Given the description of an element on the screen output the (x, y) to click on. 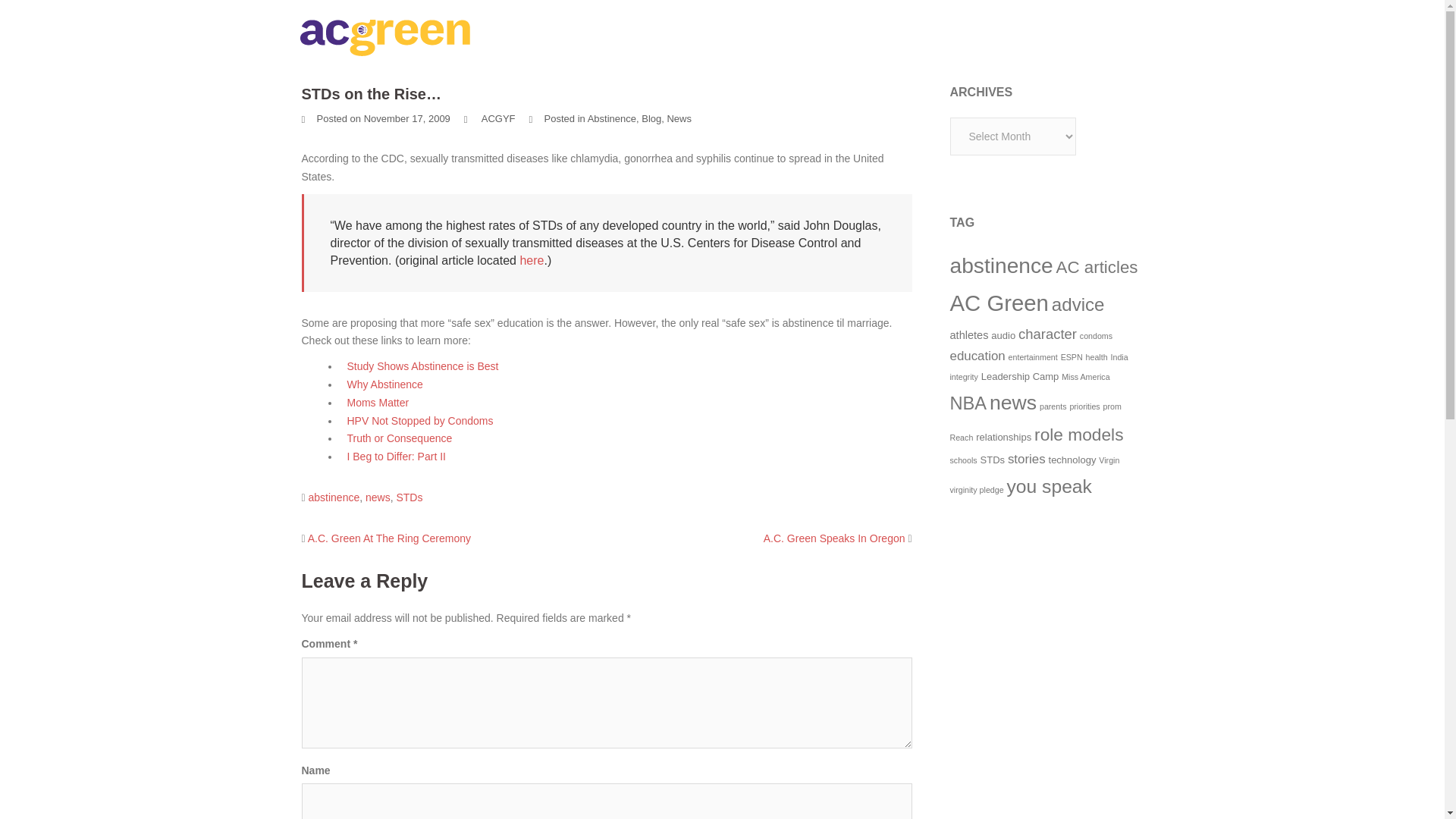
Get Involved (1040, 37)
Who We Are (835, 37)
Abstinence (612, 118)
AC Green YF (384, 37)
ACGYF (498, 118)
HPV Not Stopped by Condoms (420, 420)
Moms Matter (378, 402)
Blog (979, 37)
News (678, 118)
here (531, 259)
Contact Us (1116, 37)
Why Abstinence (385, 384)
Blog (651, 118)
Study Shows Abstinence is Best (423, 366)
What We Do (916, 37)
